Given the description of an element on the screen output the (x, y) to click on. 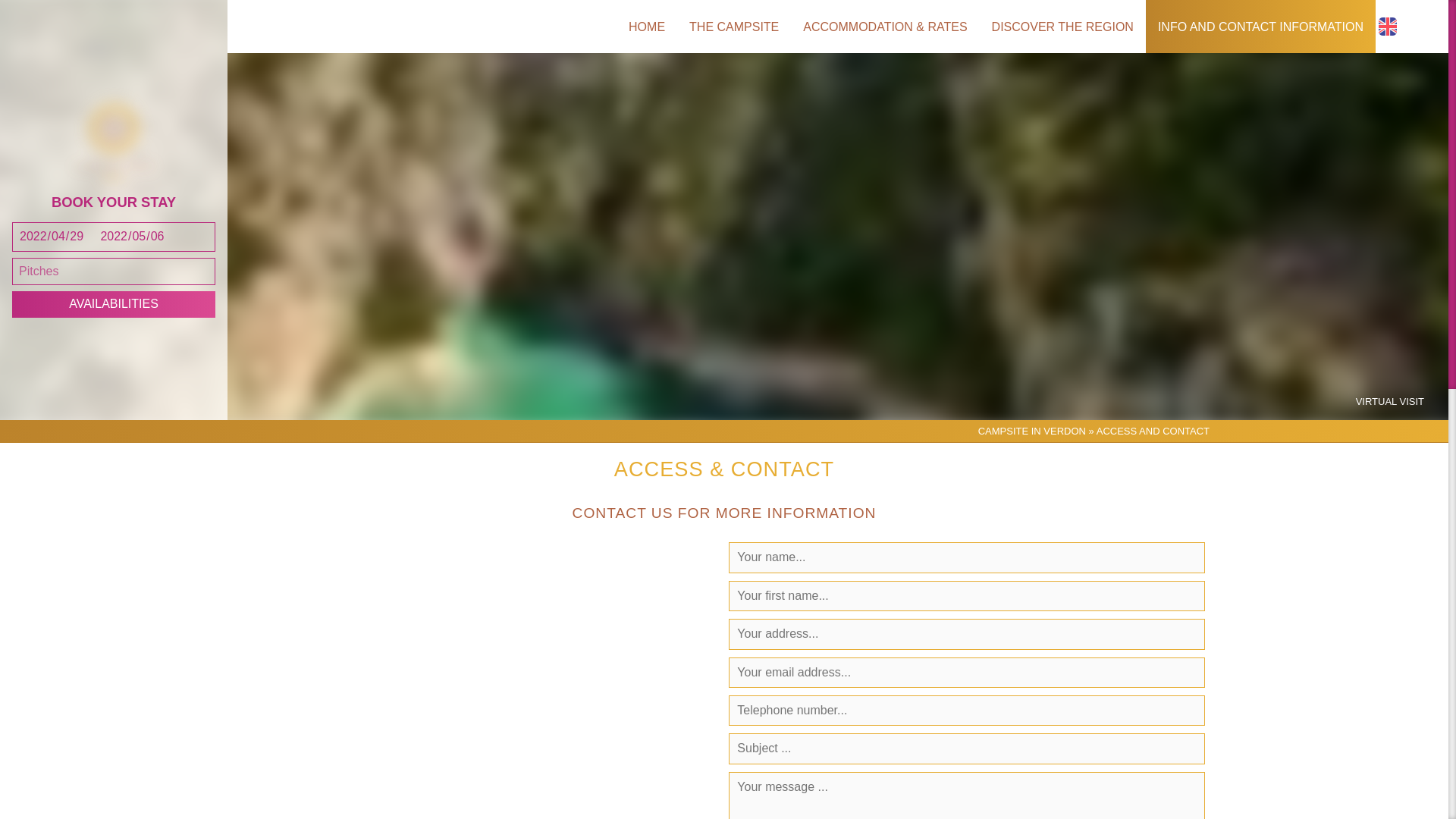
THE CAMPSITE (733, 26)
INFO AND CONTACT INFORMATION (1260, 26)
Book your stay (113, 303)
CAMPSITE IN VERDON (1032, 430)
Availabilities (113, 303)
2022-05-06 (153, 236)
2022-04-29 (53, 236)
See the virtual tour (1389, 401)
HOME (646, 26)
VIRTUAL VISIT (1389, 401)
DISCOVER THE REGION (1062, 26)
Availabilities (113, 303)
